Given the description of an element on the screen output the (x, y) to click on. 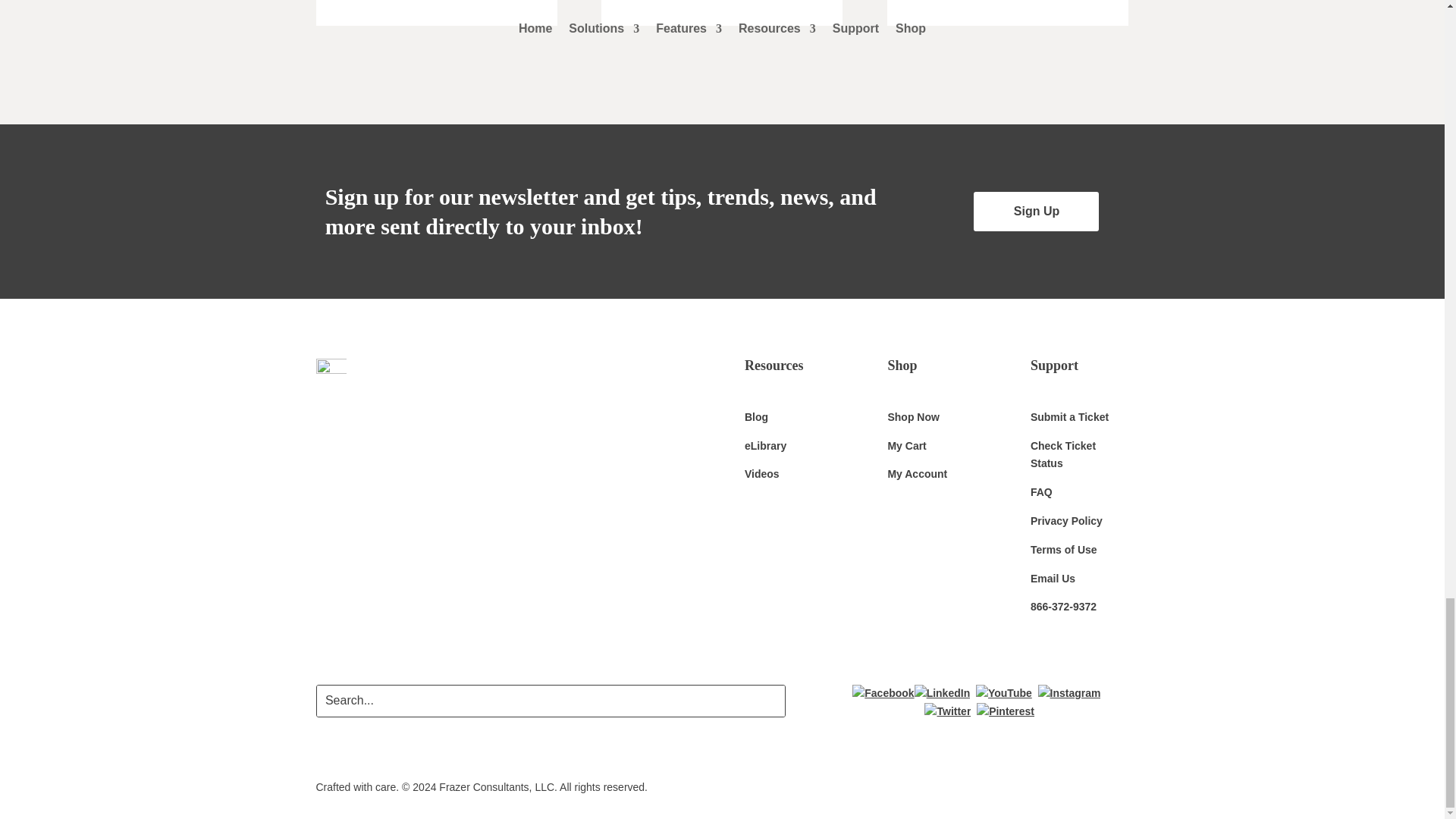
Pinterest Page (1004, 711)
Twitter Page (947, 711)
Instagram Page (1069, 693)
Gray-F-404040 (330, 374)
LinkedIn Page (942, 693)
YouTube Channel (1003, 693)
Facebook Page (882, 693)
